Given the description of an element on the screen output the (x, y) to click on. 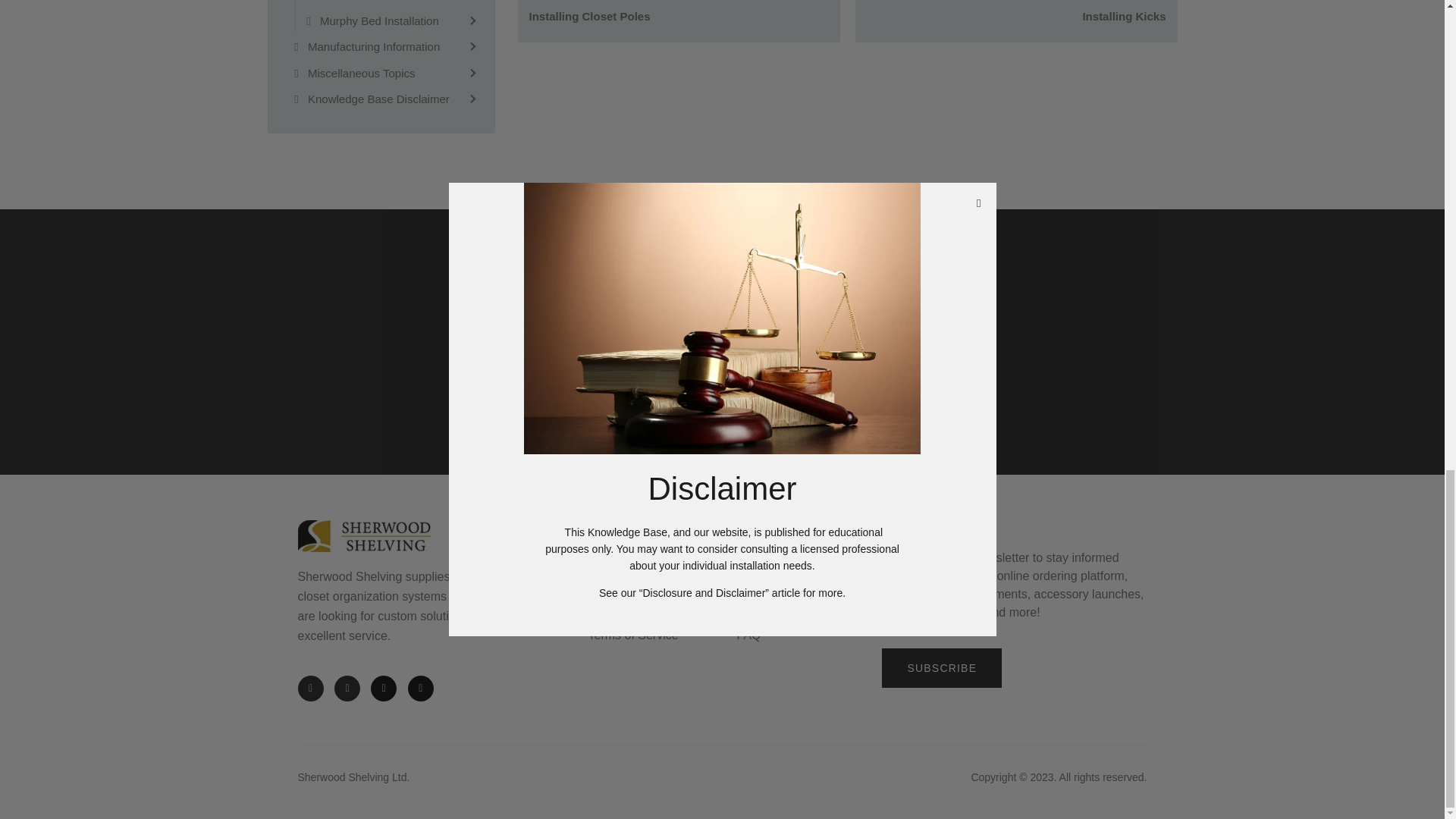
Installing Kicks (1016, 16)
Installing Closet Poles (678, 16)
